Given the description of an element on the screen output the (x, y) to click on. 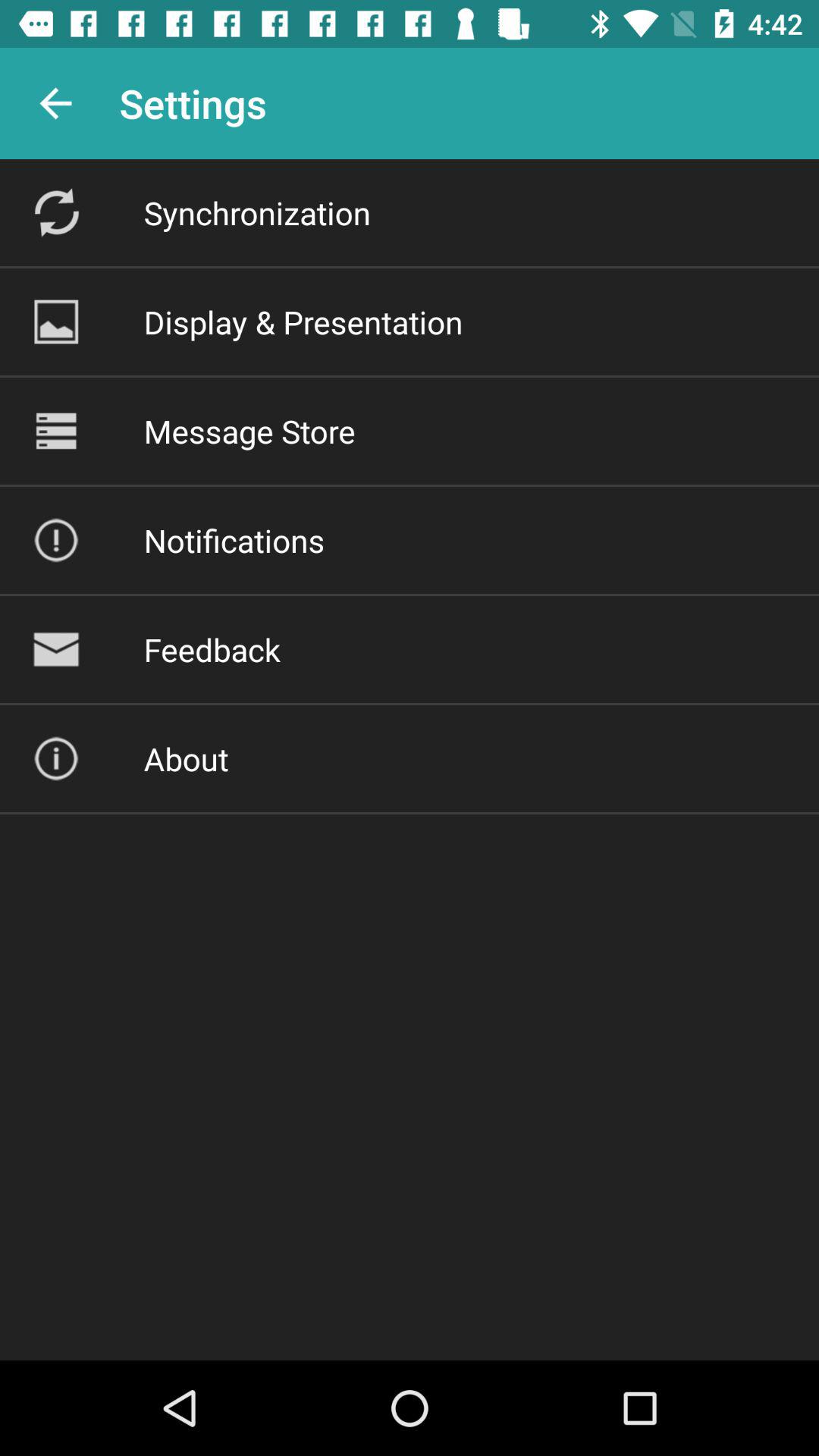
press the app to the left of settings app (55, 103)
